Given the description of an element on the screen output the (x, y) to click on. 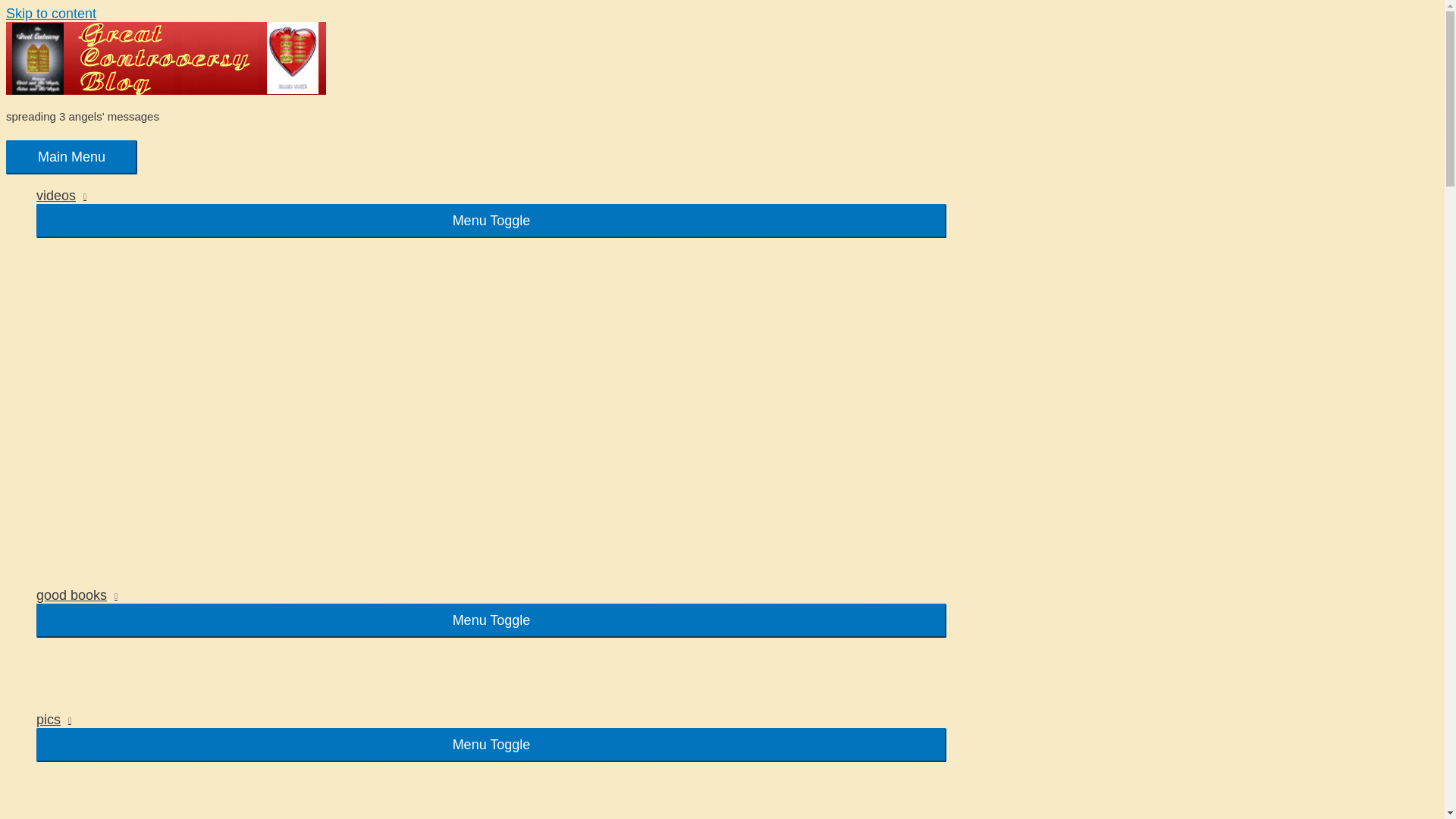
Skip to content (50, 13)
Skip to content (50, 13)
videos (491, 195)
good books (491, 595)
Menu Toggle (491, 220)
Menu Toggle (491, 620)
pics (491, 719)
Main Menu (70, 157)
Menu Toggle (491, 745)
